Given the description of an element on the screen output the (x, y) to click on. 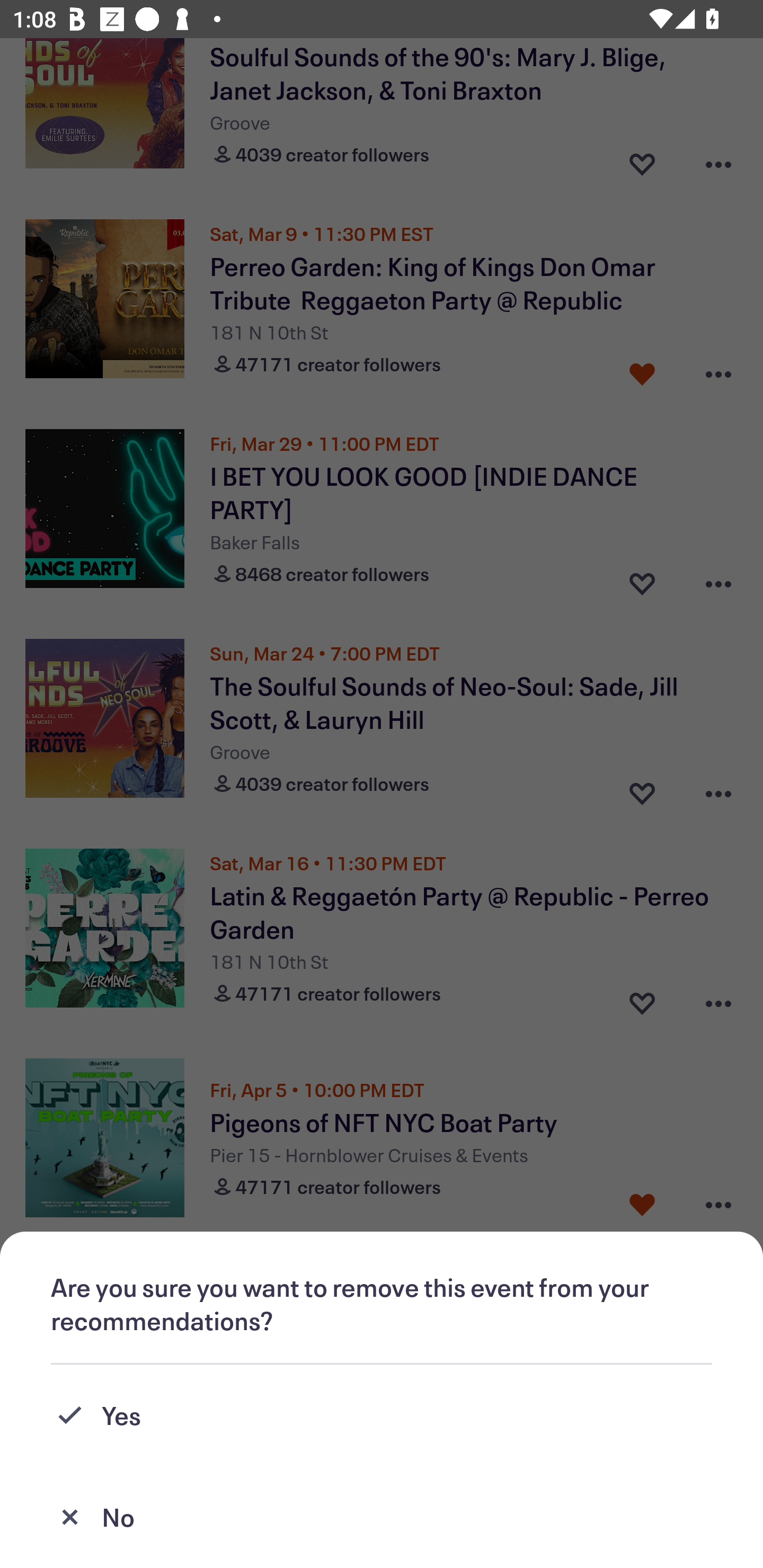
Yes (381, 1415)
No (381, 1517)
